Given the description of an element on the screen output the (x, y) to click on. 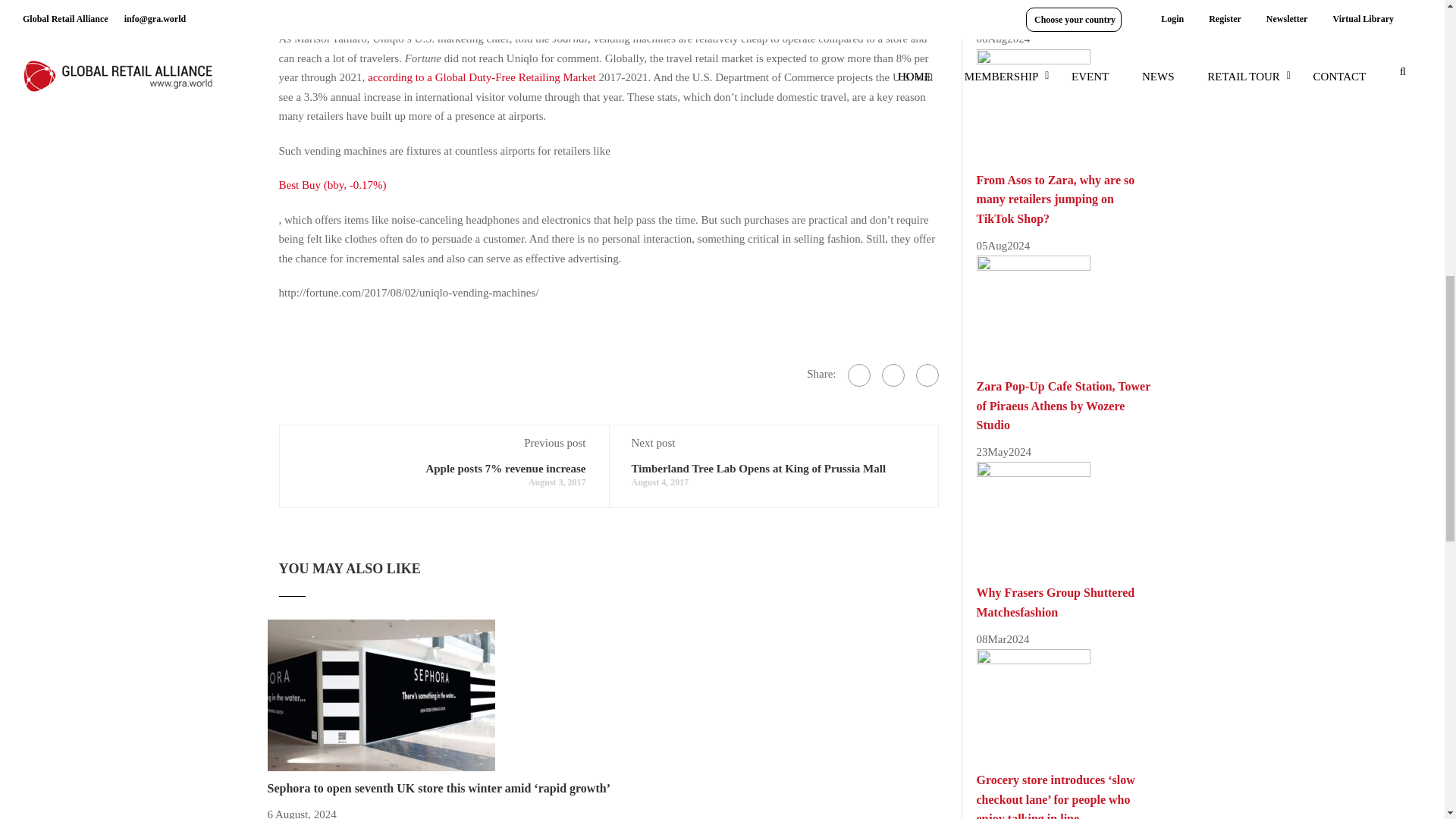
Twitter (892, 374)
Facebook (858, 374)
sephora (380, 694)
